Given the description of an element on the screen output the (x, y) to click on. 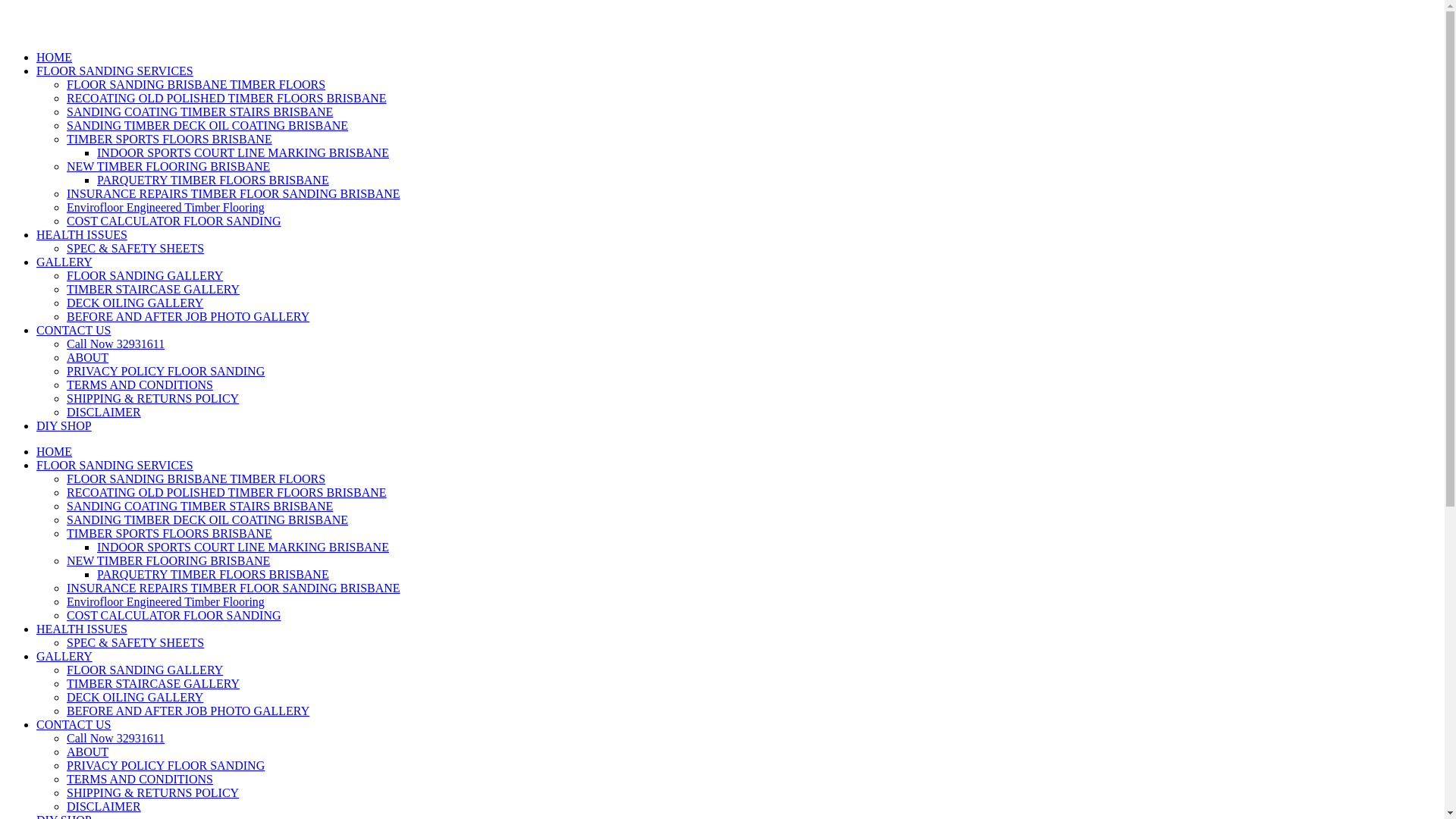
Floor Sanding Brisbane | Non Toxic Floor sanding Element type: hover (6, 24)
HEALTH ISSUES Element type: text (81, 234)
FLOOR SANDING BRISBANE TIMBER FLOORS Element type: text (195, 478)
DECK OILING GALLERY Element type: text (134, 302)
HOME Element type: text (54, 56)
TERMS AND CONDITIONS Element type: text (139, 778)
INDOOR SPORTS COURT LINE MARKING BRISBANE Element type: text (243, 152)
GALLERY Element type: text (64, 655)
COST CALCULATOR FLOOR SANDING Element type: text (173, 220)
TERMS AND CONDITIONS Element type: text (139, 384)
SHIPPING & RETURNS POLICY Element type: text (152, 398)
PARQUETRY TIMBER FLOORS BRISBANE Element type: text (213, 179)
INSURANCE REPAIRS TIMBER FLOOR SANDING BRISBANE Element type: text (233, 193)
NEW TIMBER FLOORING BRISBANE Element type: text (167, 166)
HEALTH ISSUES Element type: text (81, 628)
Call Now 32931611 Element type: text (115, 343)
PARQUETRY TIMBER FLOORS BRISBANE Element type: text (213, 573)
SPEC & SAFETY SHEETS Element type: text (134, 247)
FLOOR SANDING BRISBANE TIMBER FLOORS Element type: text (195, 84)
DECK OILING GALLERY Element type: text (134, 696)
TIMBER STAIRCASE GALLERY Element type: text (152, 683)
TIMBER STAIRCASE GALLERY Element type: text (152, 288)
TIMBER SPORTS FLOORS BRISBANE Element type: text (169, 533)
FLOOR SANDING SERVICES Element type: text (114, 464)
INSURANCE REPAIRS TIMBER FLOOR SANDING BRISBANE Element type: text (233, 587)
FLOOR SANDING SERVICES Element type: text (114, 70)
BEFORE AND AFTER JOB PHOTO GALLERY Element type: text (187, 710)
PRIVACY POLICY FLOOR SANDING Element type: text (165, 765)
DISCLAIMER Element type: text (103, 411)
INDOOR SPORTS COURT LINE MARKING BRISBANE Element type: text (243, 546)
CONTACT US Element type: text (73, 724)
GALLERY Element type: text (64, 261)
PRIVACY POLICY FLOOR SANDING Element type: text (165, 370)
SHIPPING & RETURNS POLICY Element type: text (152, 792)
ABOUT Element type: text (87, 357)
Call Now 32931611 Element type: text (115, 737)
Envirofloor Engineered Timber Flooring Element type: text (165, 206)
RECOATING OLD POLISHED TIMBER FLOORS BRISBANE Element type: text (226, 97)
CONTACT US Element type: text (73, 329)
SANDING COATING TIMBER STAIRS BRISBANE Element type: text (199, 111)
SANDING COATING TIMBER STAIRS BRISBANE Element type: text (199, 505)
Envirofloor Engineered Timber Flooring Element type: text (165, 601)
FLOOR SANDING GALLERY Element type: text (144, 275)
TIMBER SPORTS FLOORS BRISBANE Element type: text (169, 138)
SPEC & SAFETY SHEETS Element type: text (134, 642)
SANDING TIMBER DECK OIL COATING BRISBANE Element type: text (207, 519)
BEFORE AND AFTER JOB PHOTO GALLERY Element type: text (187, 316)
COST CALCULATOR FLOOR SANDING Element type: text (173, 614)
RECOATING OLD POLISHED TIMBER FLOORS BRISBANE Element type: text (226, 492)
NEW TIMBER FLOORING BRISBANE Element type: text (167, 560)
DIY SHOP Element type: text (63, 425)
FLOOR SANDING GALLERY Element type: text (144, 669)
SANDING TIMBER DECK OIL COATING BRISBANE Element type: text (207, 125)
HOME Element type: text (54, 451)
ABOUT Element type: text (87, 751)
DISCLAIMER Element type: text (103, 806)
